Given the description of an element on the screen output the (x, y) to click on. 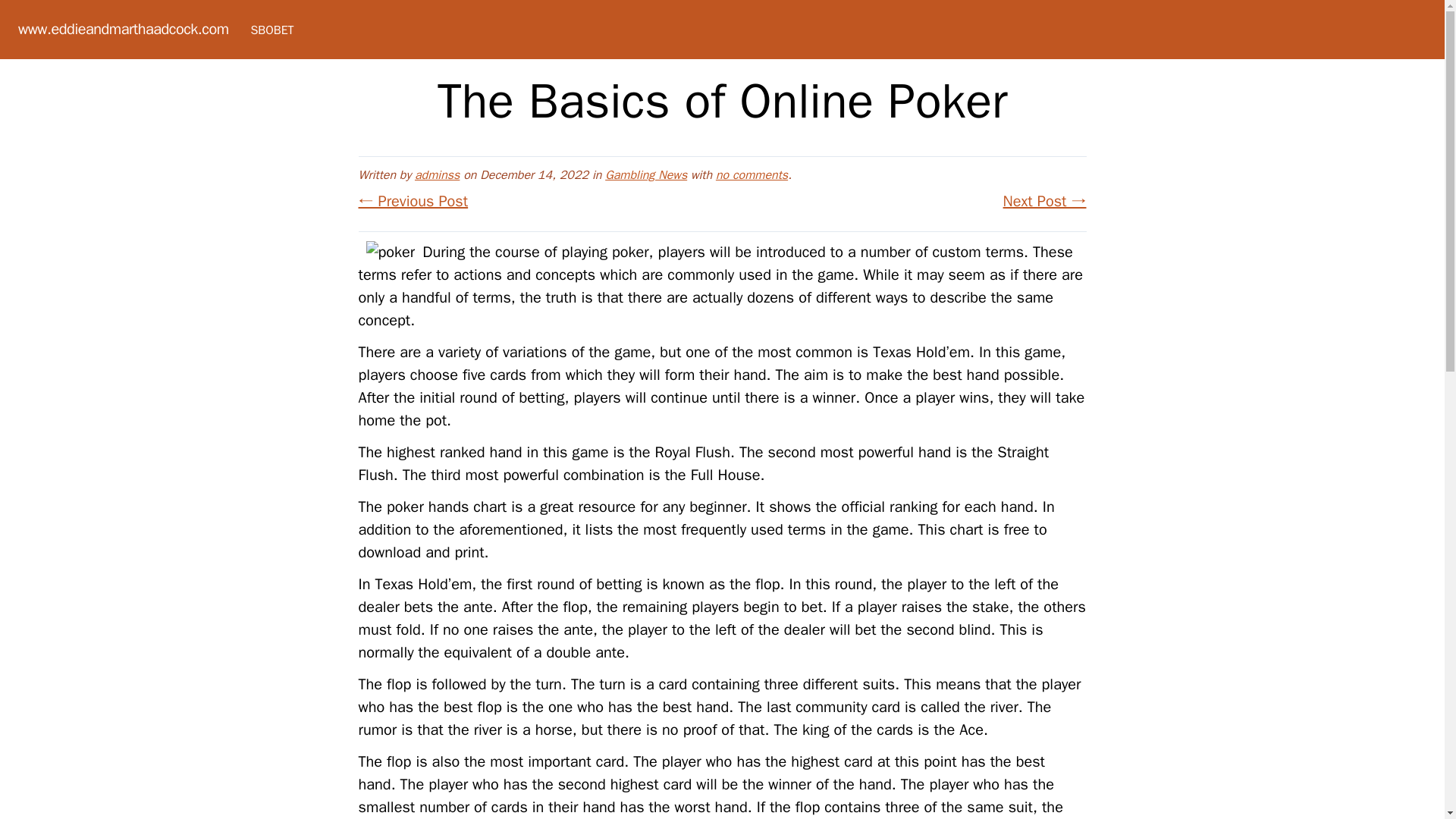
no comments (751, 174)
www.eddieandmarthaadcock.com (122, 29)
SBOBET (272, 30)
Gambling News (646, 174)
adminss (437, 174)
no comments (751, 174)
